Given the description of an element on the screen output the (x, y) to click on. 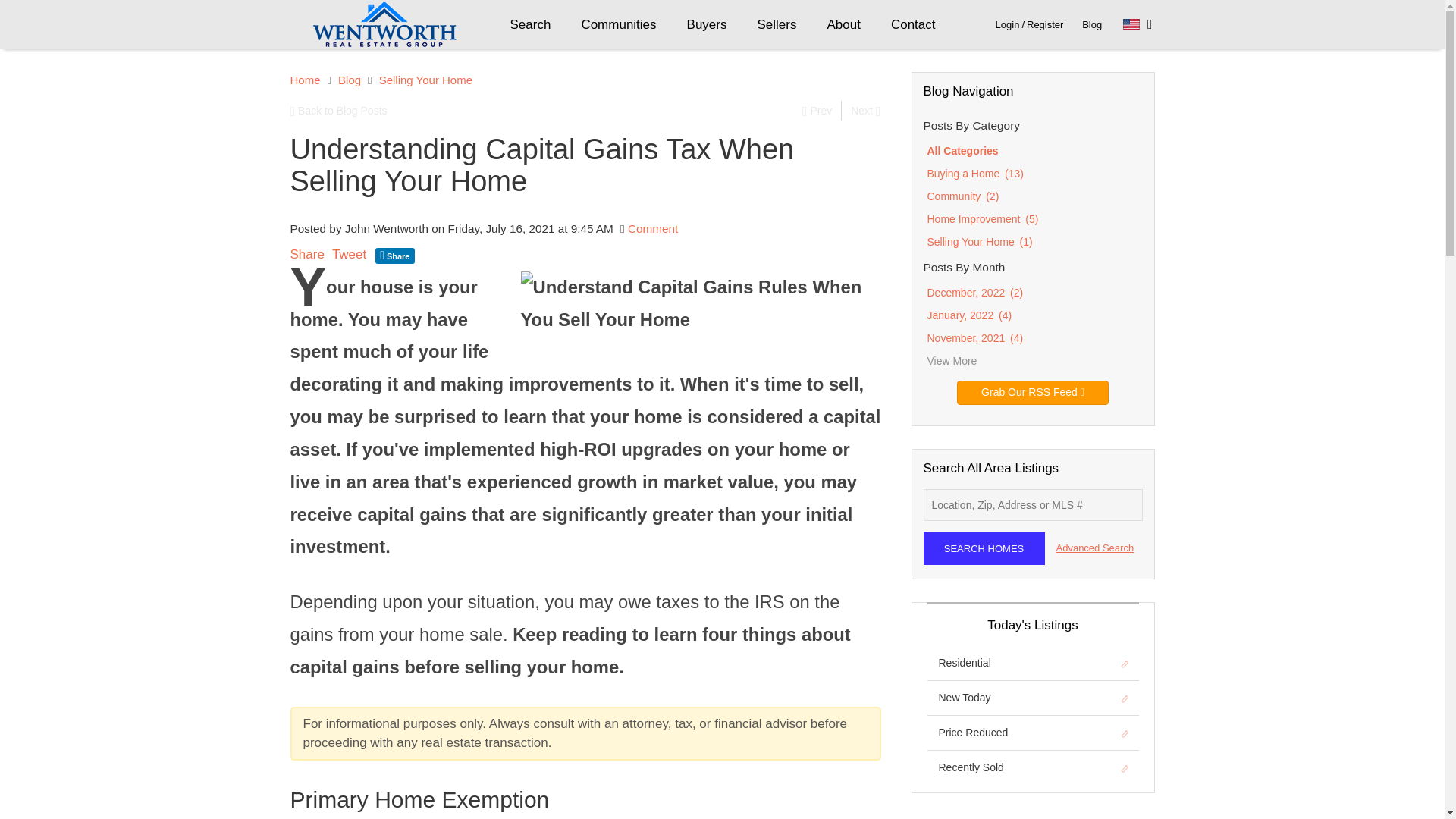
Buyers (706, 24)
Communities (618, 24)
Select Language (1137, 24)
About (842, 24)
Register (1044, 24)
Search (530, 24)
Sellers (775, 24)
Contact (913, 24)
